Given the description of an element on the screen output the (x, y) to click on. 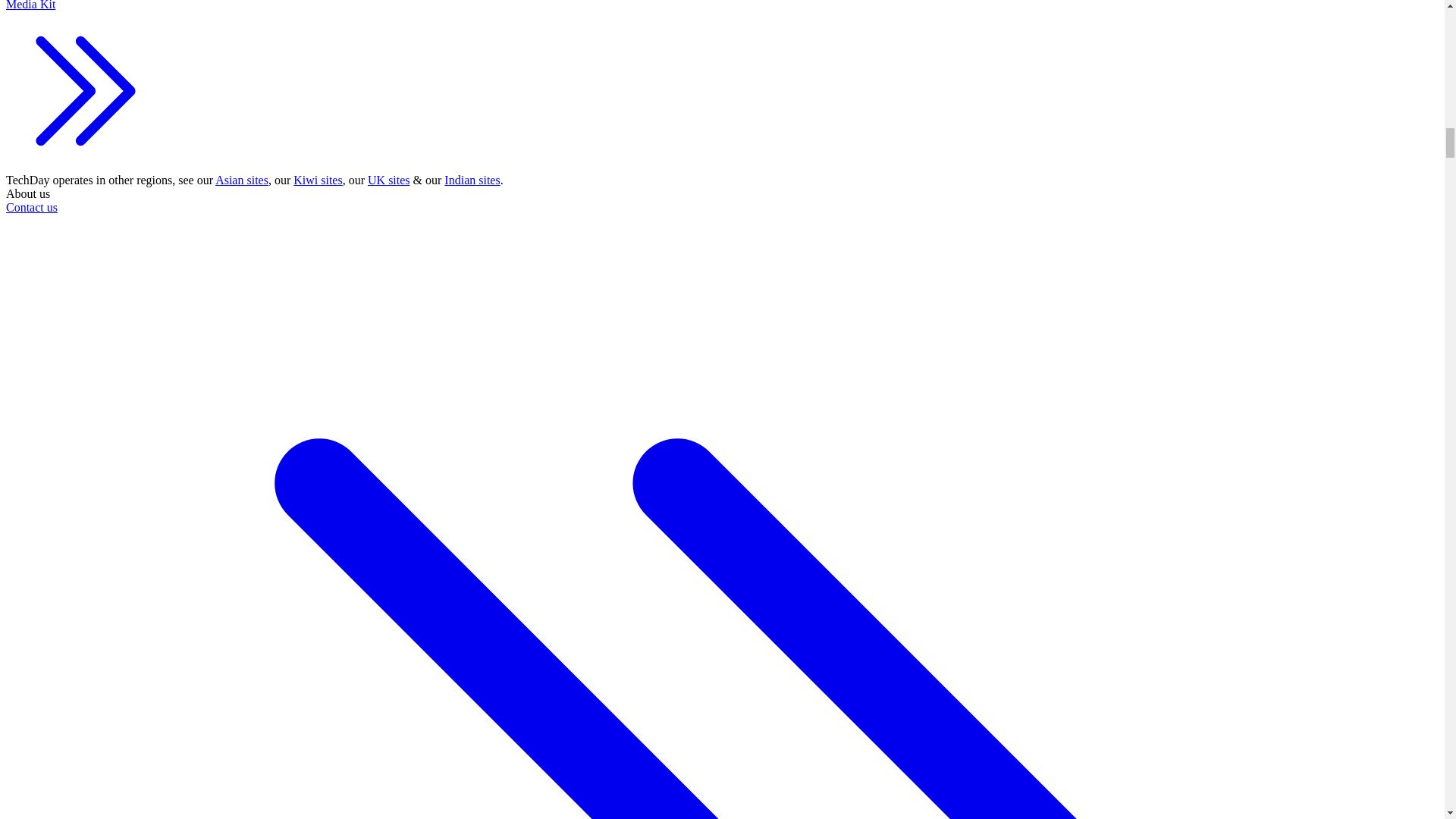
UK sites (389, 179)
Indian sites (471, 179)
Media Kit (85, 86)
Asian sites (241, 179)
Kiwi sites (318, 179)
